Given the description of an element on the screen output the (x, y) to click on. 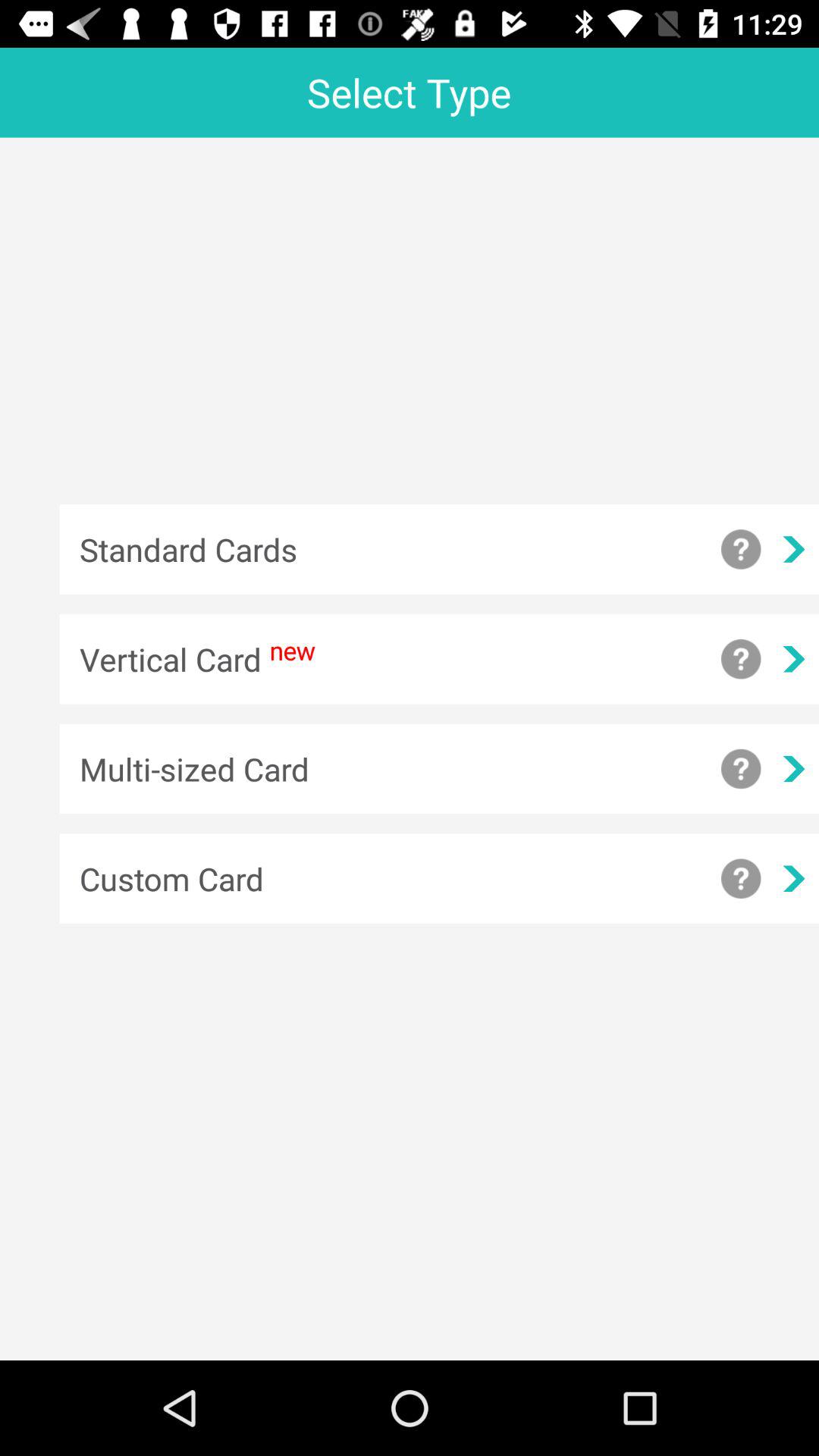
get additional information about a custom card (740, 878)
